Given the description of an element on the screen output the (x, y) to click on. 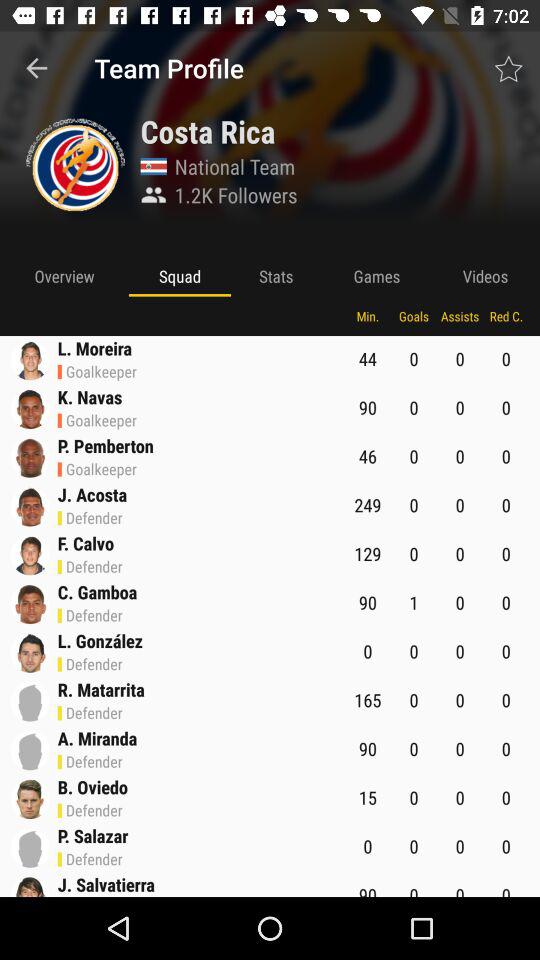
turn off item to the left of videos icon (376, 276)
